Given the description of an element on the screen output the (x, y) to click on. 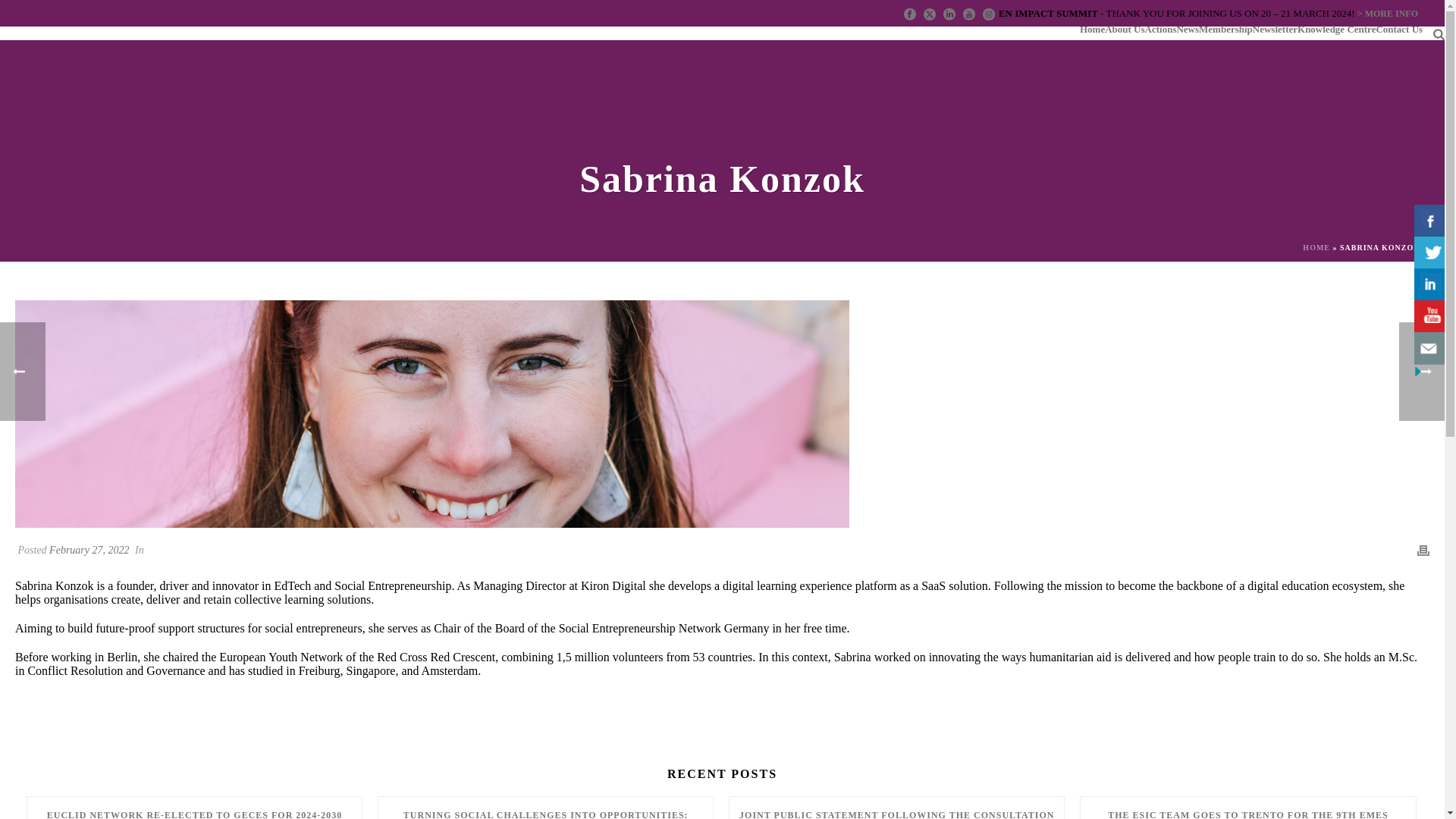
Actions (1160, 29)
Actions (1160, 29)
News (1187, 29)
Newsletter (1274, 29)
Knowledge Centre (1336, 29)
About Us (1124, 29)
Home (1092, 29)
Home (1092, 29)
Newsletter (1274, 29)
News (1187, 29)
Contact Us (1398, 29)
Knowledge Centre (1336, 29)
Membership (1225, 29)
Membership (1225, 29)
